Given the description of an element on the screen output the (x, y) to click on. 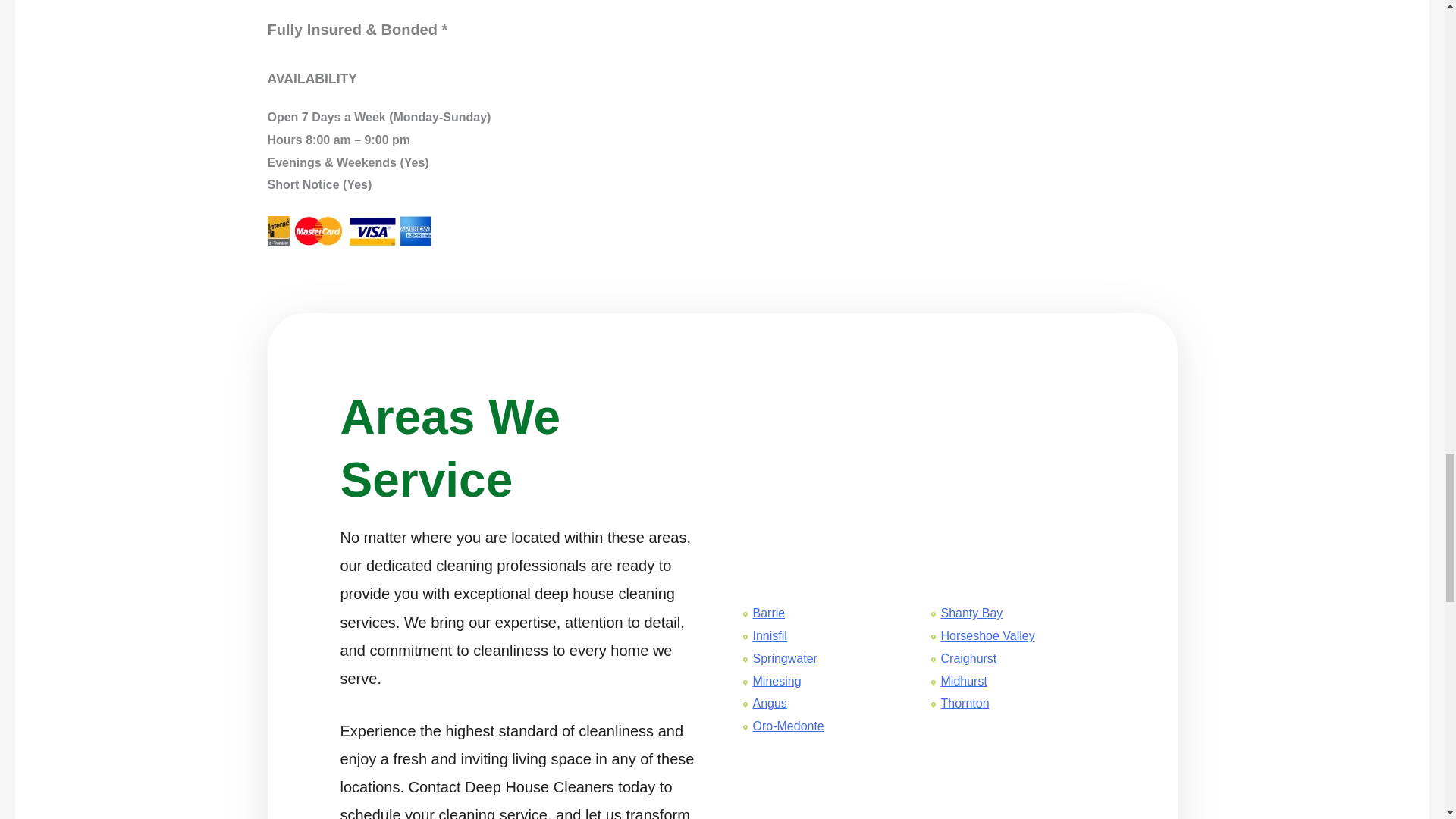
Shanty Bay (971, 612)
Midhurst (963, 680)
Thornton (964, 703)
Angus (769, 703)
Minesing (776, 680)
Craighurst (967, 658)
Innisfil (769, 635)
Springwater (784, 658)
Barrie (768, 612)
Oro-Medonte (788, 725)
